Given the description of an element on the screen output the (x, y) to click on. 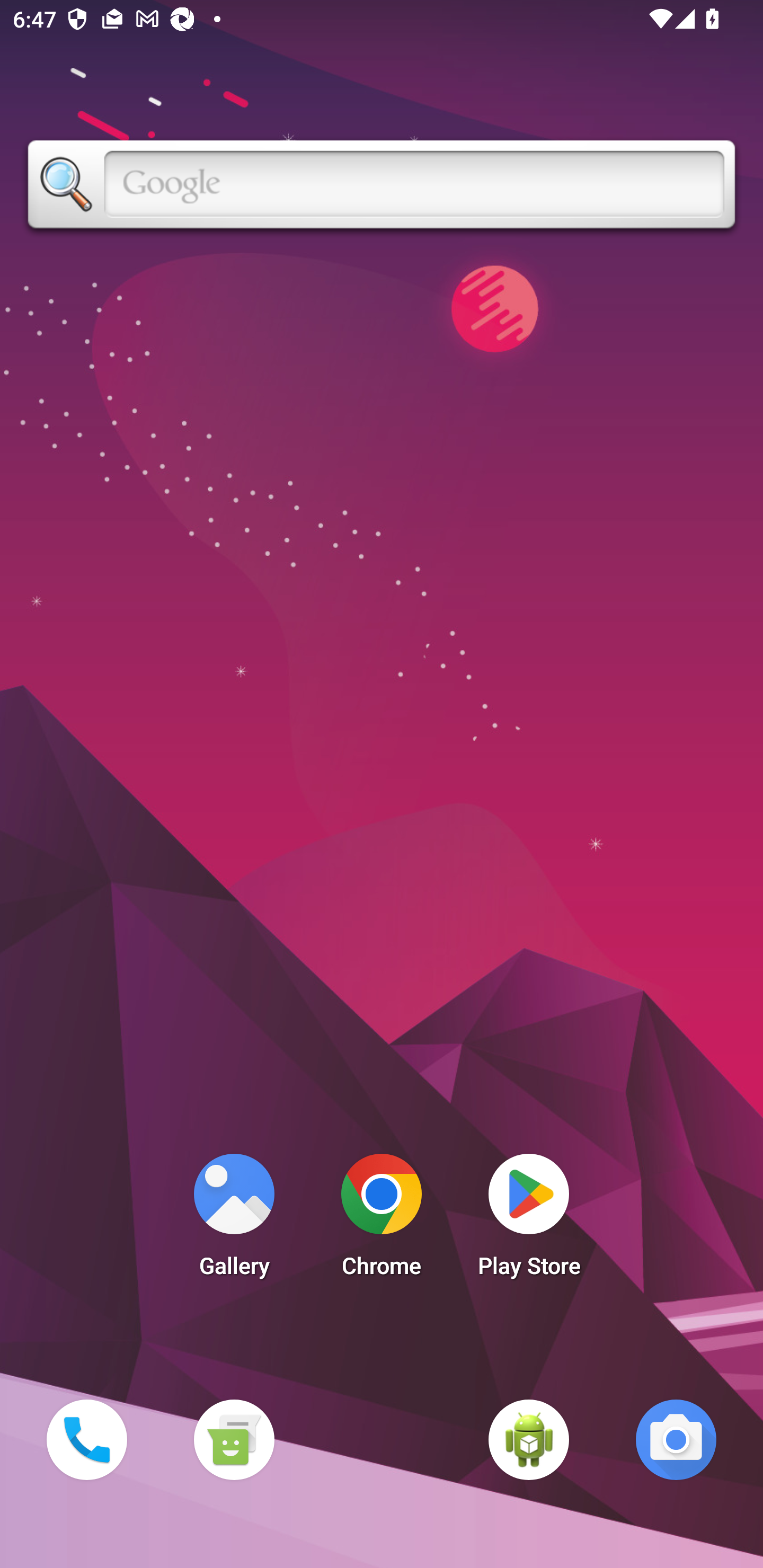
Gallery (233, 1220)
Chrome (381, 1220)
Play Store (528, 1220)
Phone (86, 1439)
Messaging (233, 1439)
WebView Browser Tester (528, 1439)
Camera (676, 1439)
